Given the description of an element on the screen output the (x, y) to click on. 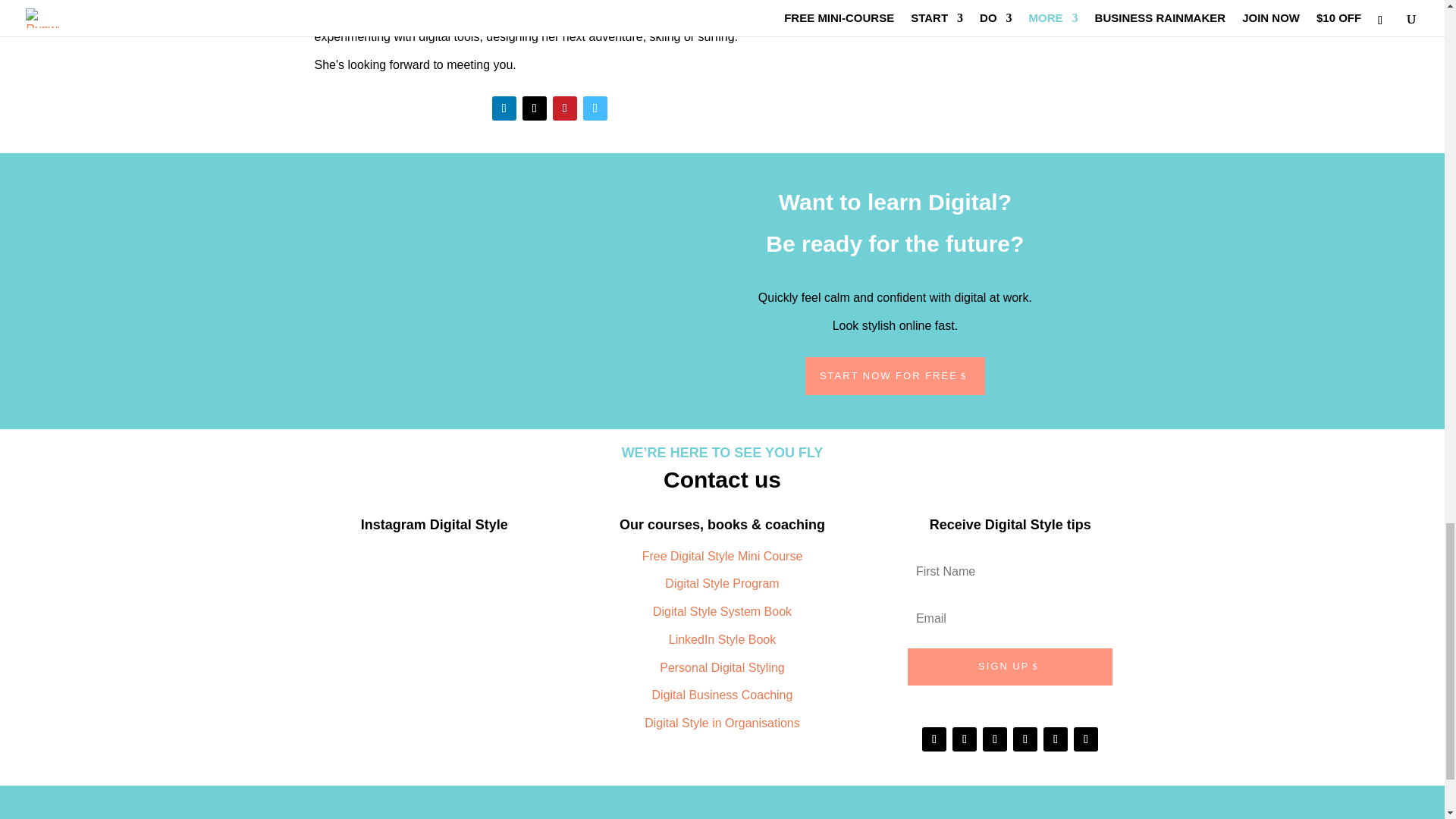
Follow on Twitter (534, 108)
Follow on LinkedIn (504, 108)
Follow on Vimeo (595, 108)
Follow on Pinterest (564, 108)
